Given the description of an element on the screen output the (x, y) to click on. 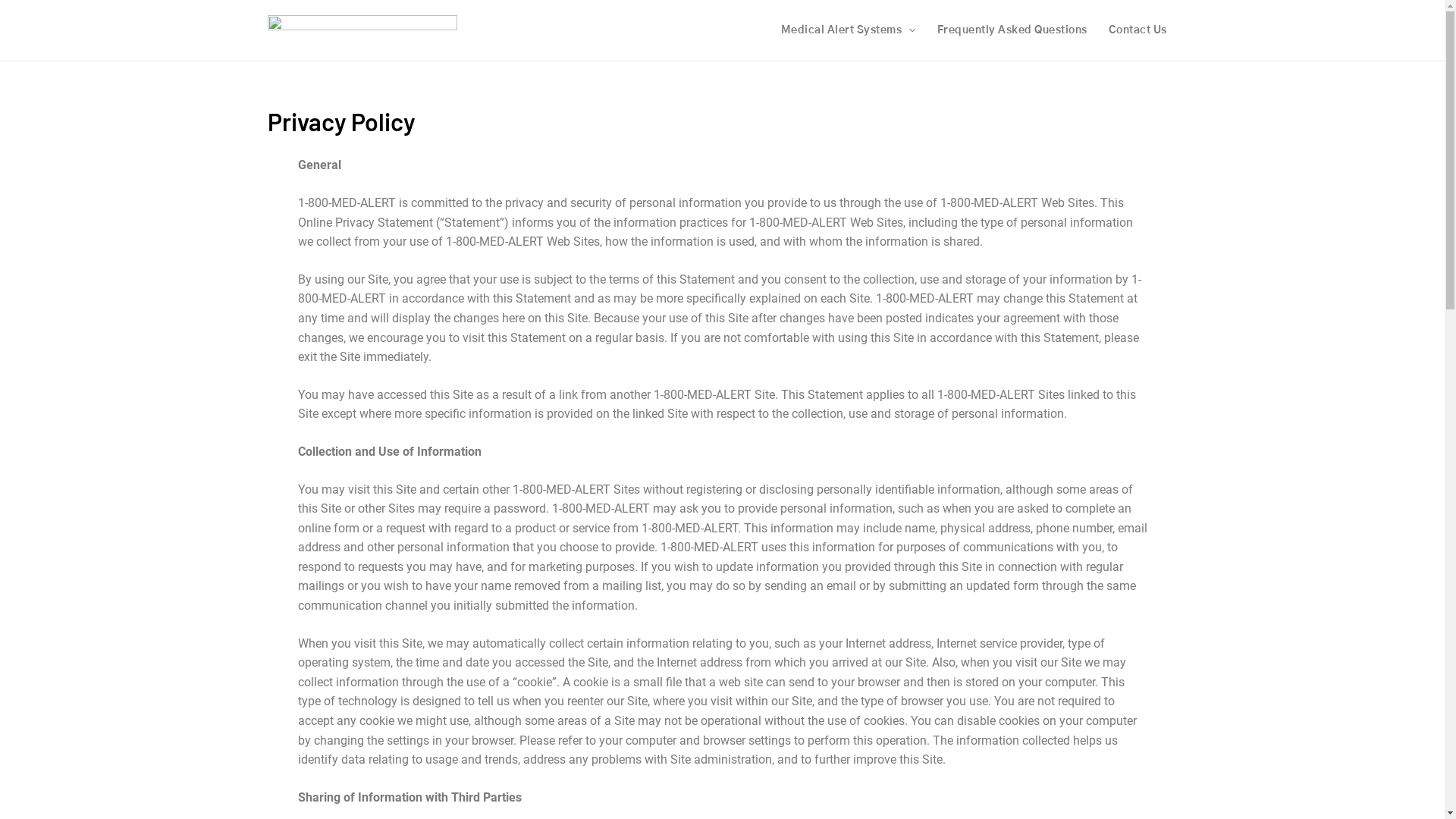
Contact Us Element type: text (1137, 29)
Frequently Asked Questions Element type: text (1012, 29)
Medical Alert Systems Element type: text (848, 29)
